Given the description of an element on the screen output the (x, y) to click on. 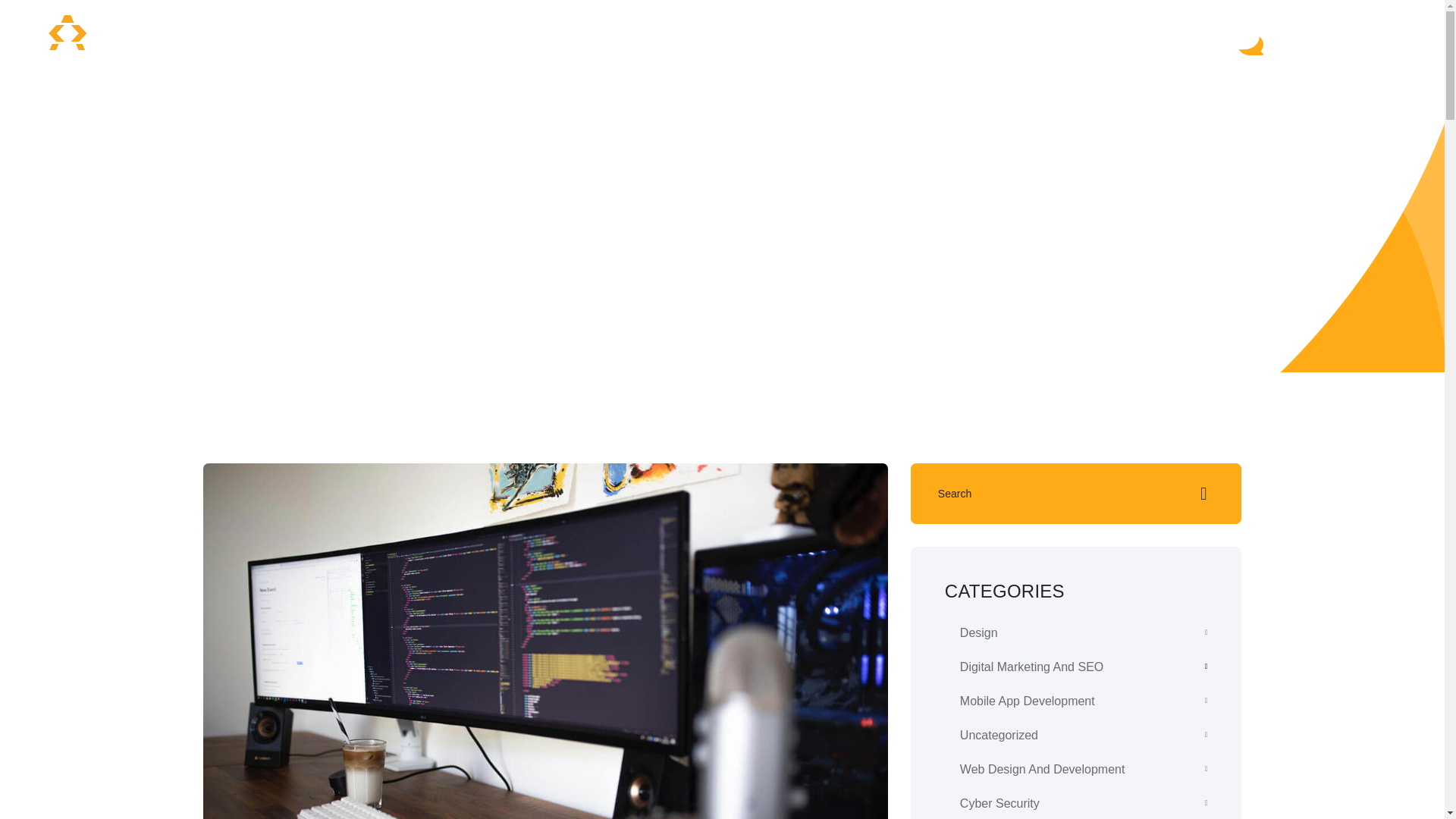
HOME (464, 40)
OUR SERVICES (560, 40)
BLOG (670, 40)
ABOUT US (856, 40)
Ajroni Enterprises inc (67, 42)
PORTFOLIO (755, 40)
